Given the description of an element on the screen output the (x, y) to click on. 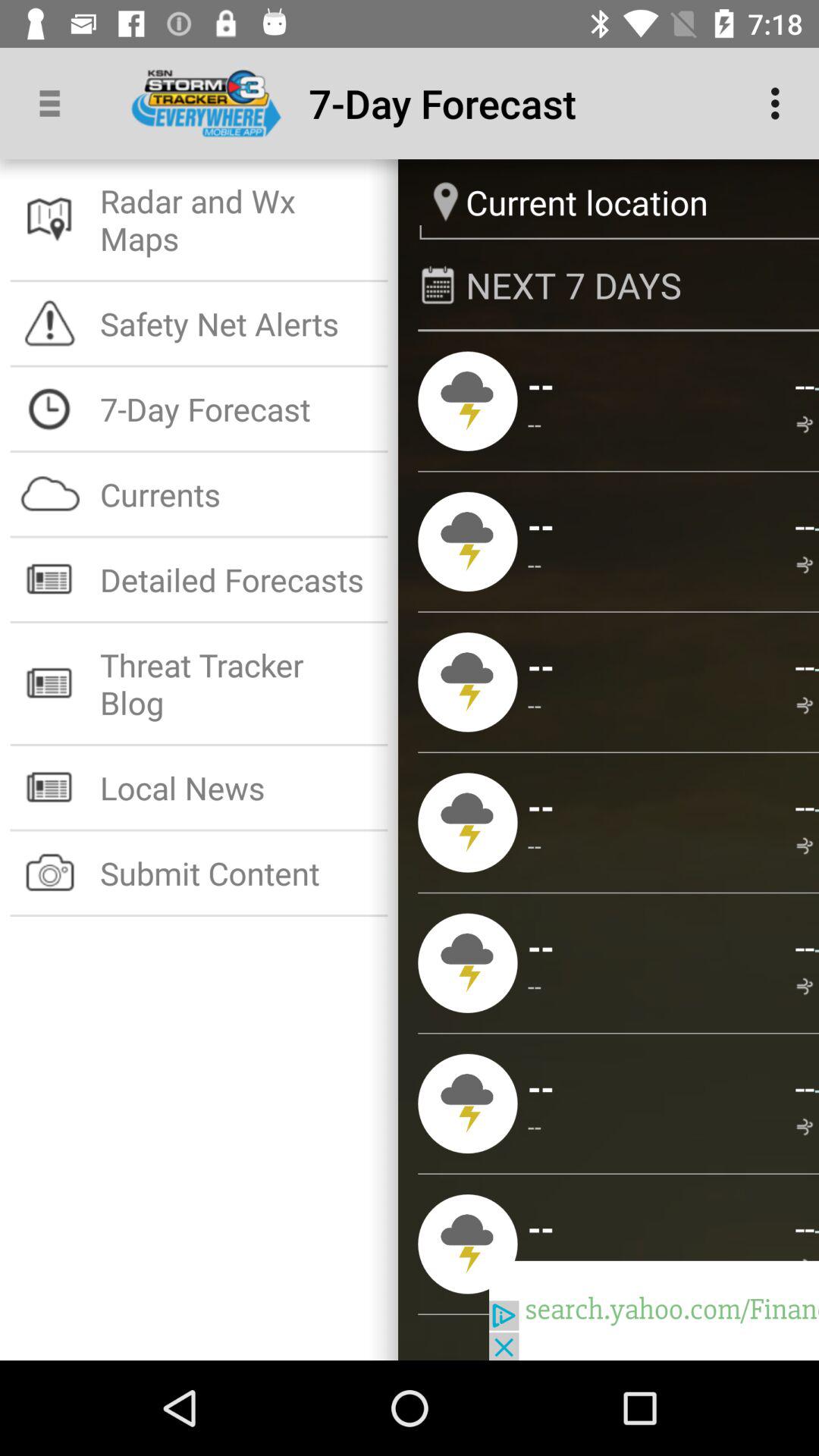
click the item above detailed forecasts (238, 493)
